Given the description of an element on the screen output the (x, y) to click on. 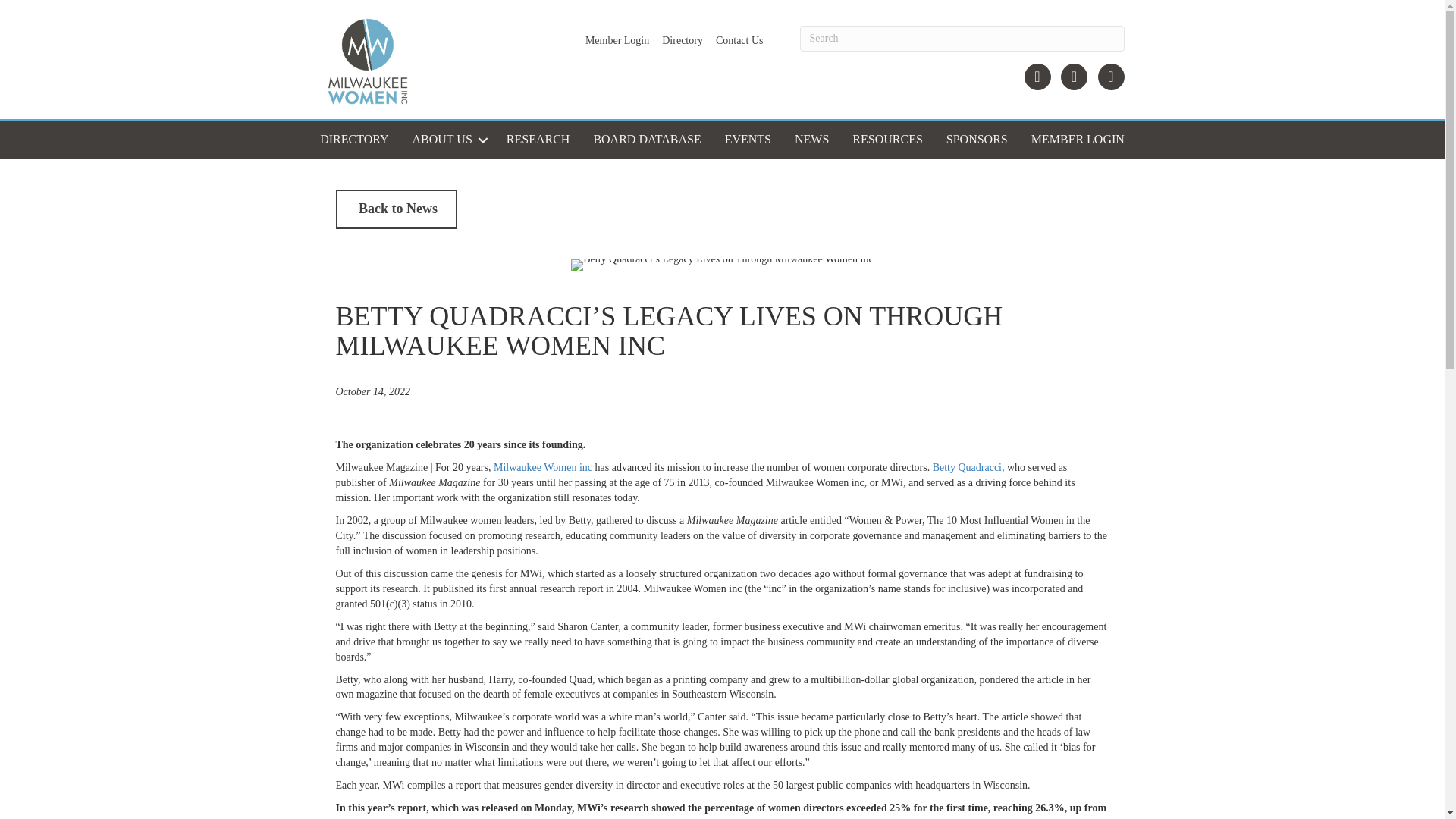
BOARD DATABASE (645, 139)
Member Login (617, 40)
Betty-Quadracci-MWi-foundr-2 (721, 265)
Contact Us (740, 40)
Milwaukee Women inc (542, 467)
MEMBER LOGIN (1077, 139)
DIRECTORY (353, 139)
RESEARCH (537, 139)
Directory (682, 40)
EVENTS (748, 139)
